Given the description of an element on the screen output the (x, y) to click on. 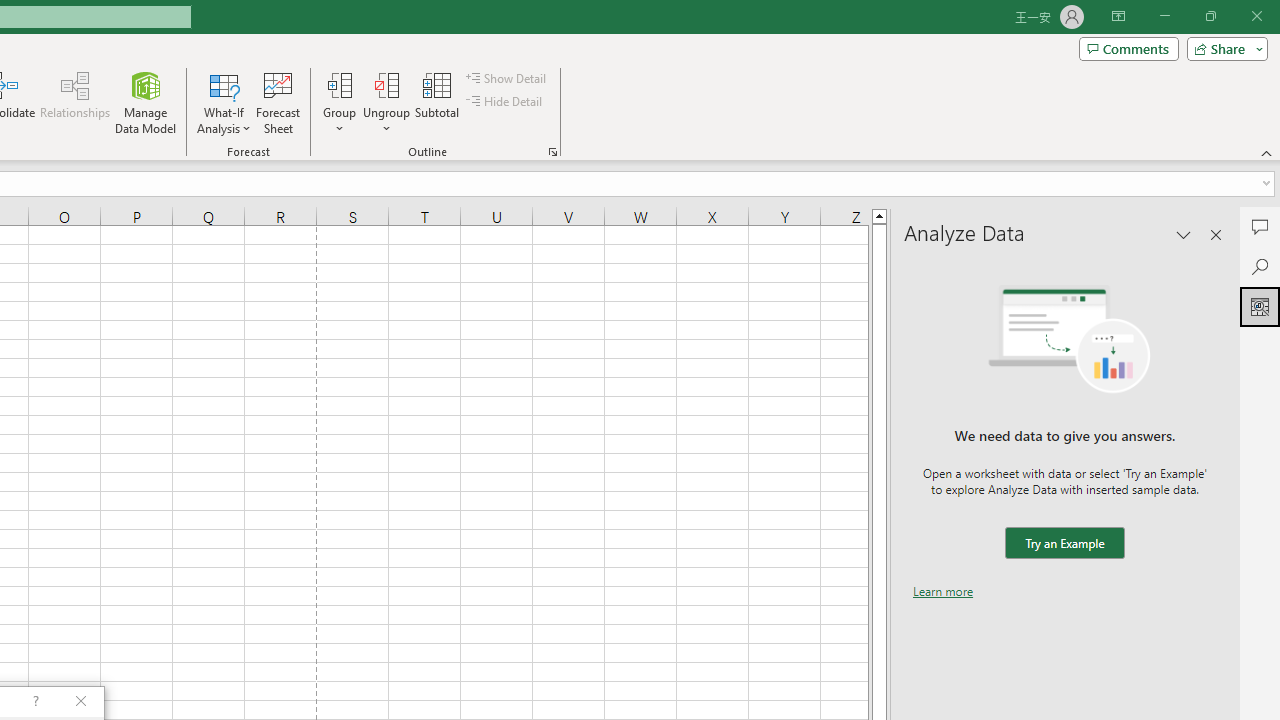
Learn more (943, 591)
Forecast Sheet (278, 102)
Ungroup... (386, 102)
Search (1260, 266)
Hide Detail (505, 101)
Ungroup... (386, 84)
Manage Data Model (145, 102)
